Given the description of an element on the screen output the (x, y) to click on. 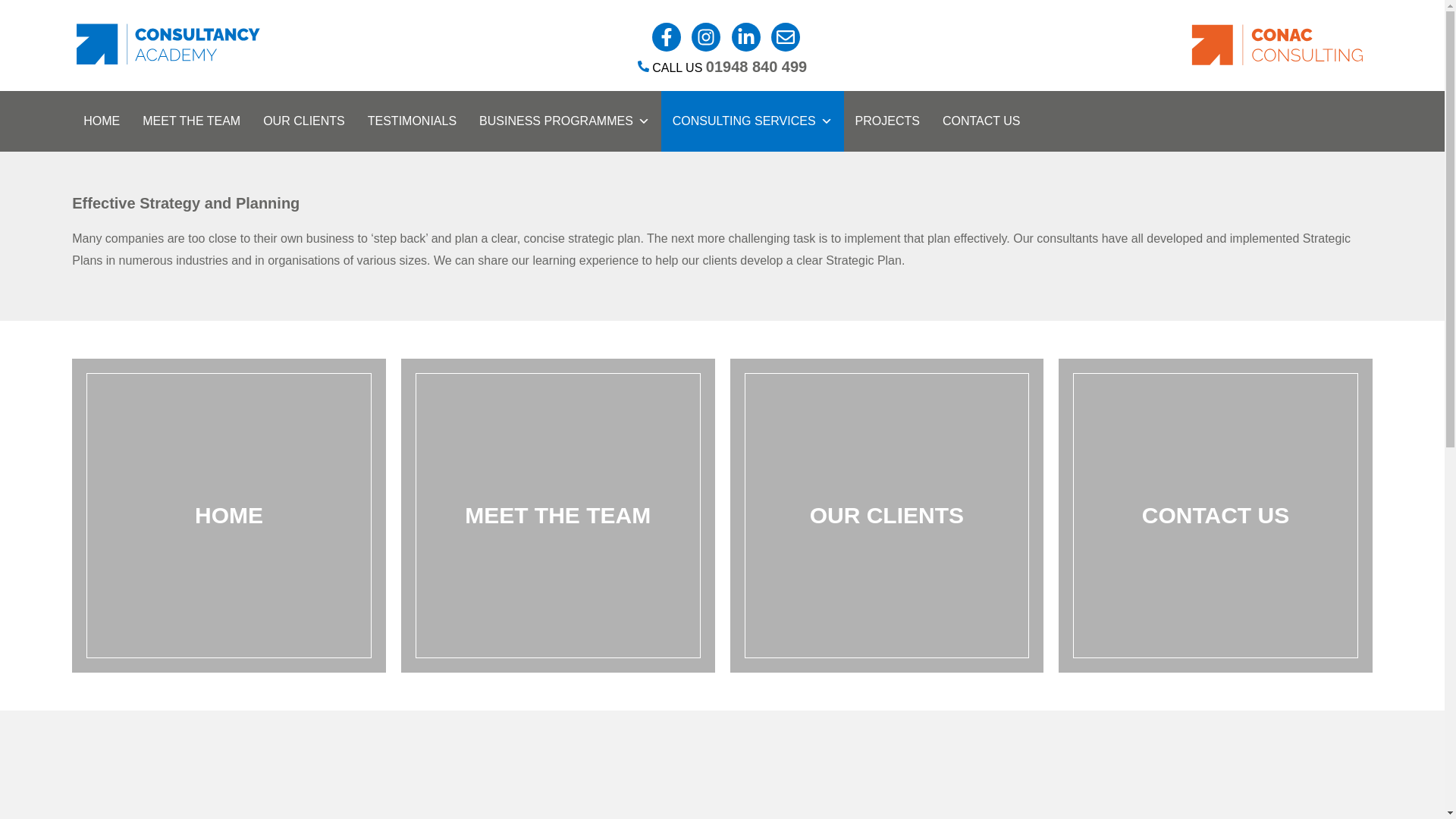
BUSINESS PROGRAMMES (564, 120)
OUR CLIENTS (303, 120)
TESTIMONIALS (411, 120)
HOME (101, 120)
CALL US 01948 840 499 (721, 67)
MEET THE TEAM (191, 120)
